Given the description of an element on the screen output the (x, y) to click on. 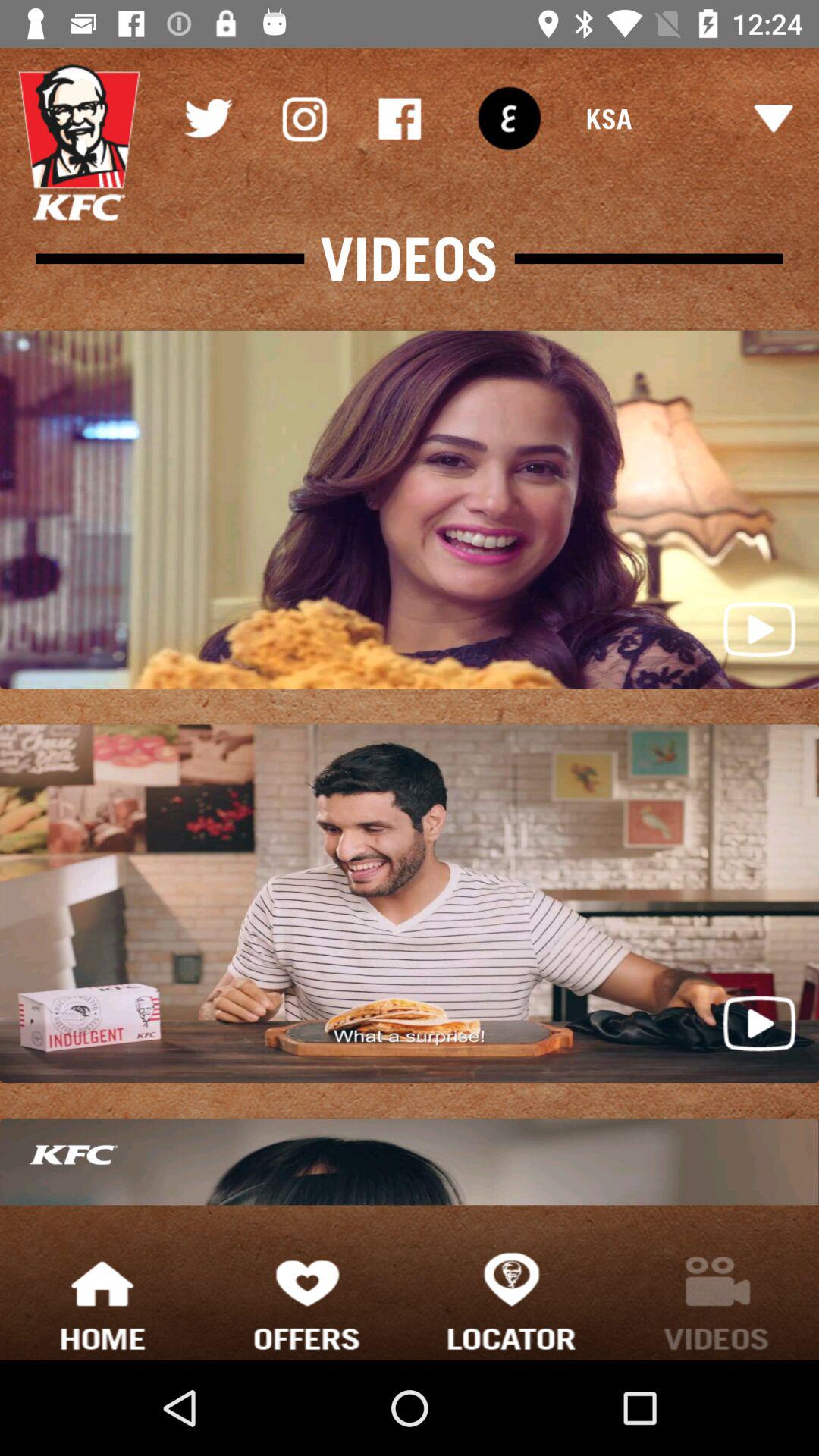
press the icon above videos icon (399, 118)
